Given the description of an element on the screen output the (x, y) to click on. 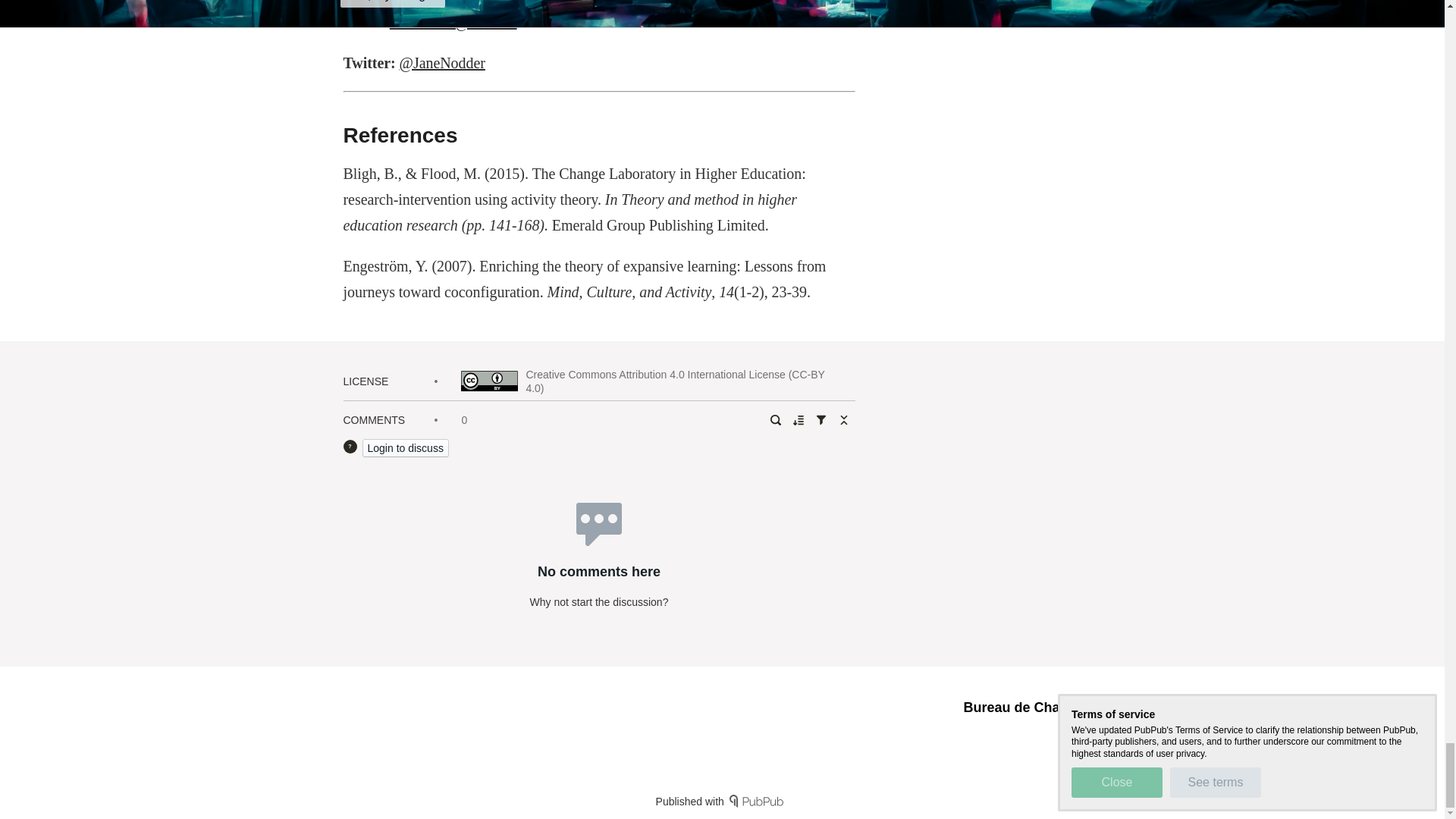
RSS (1104, 734)
Login to discuss (405, 447)
Bureau de Change Laboratory (1060, 707)
